Given the description of an element on the screen output the (x, y) to click on. 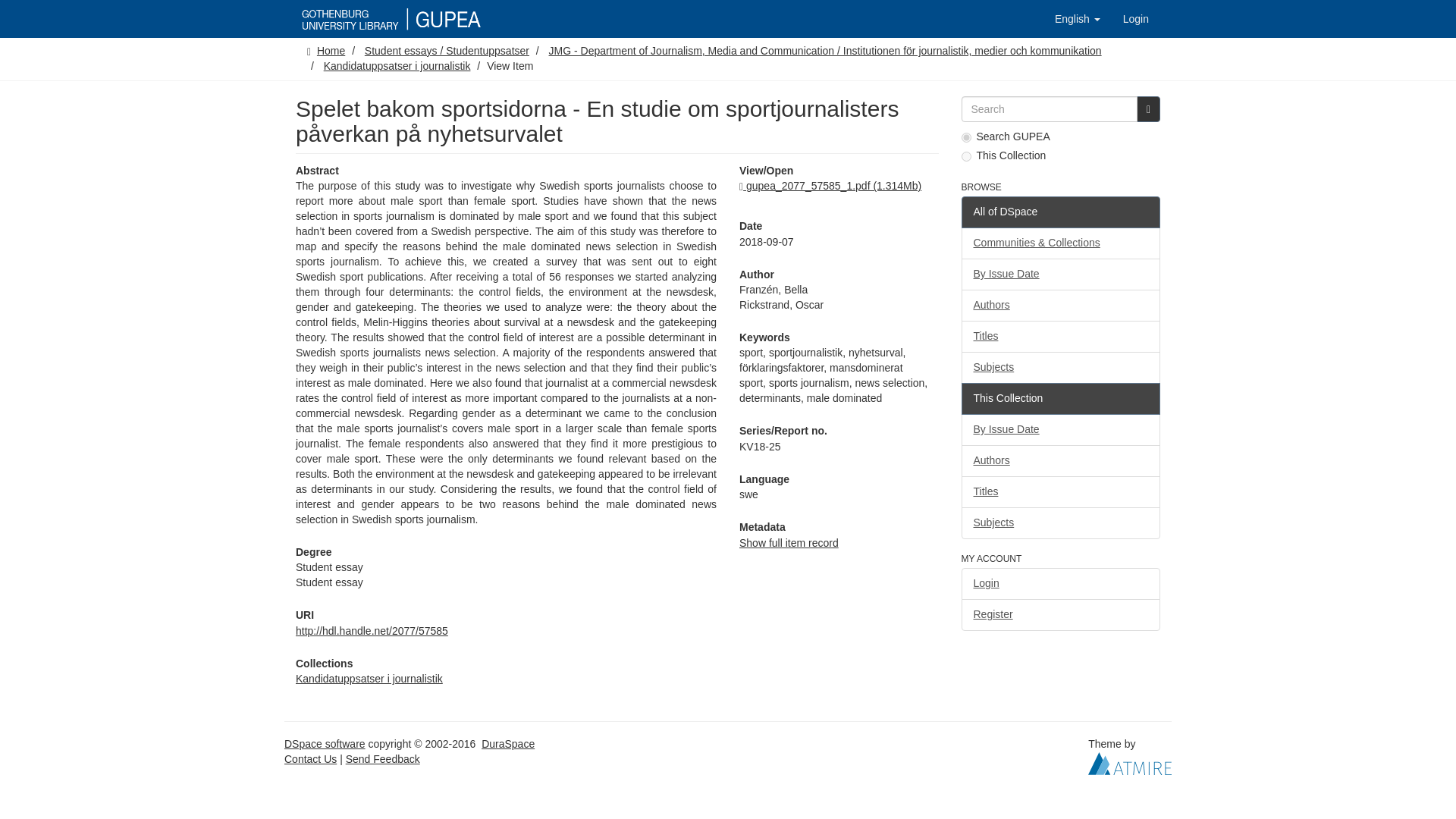
By Issue Date (1060, 274)
Titles (1060, 336)
Kandidatuppsatser i journalistik (396, 65)
Kandidatuppsatser i journalistik (368, 678)
Show full item record (788, 542)
Atmire NV (1129, 762)
English  (1077, 18)
Login (1136, 18)
Authors (1060, 305)
This Collection (1060, 398)
